Given the description of an element on the screen output the (x, y) to click on. 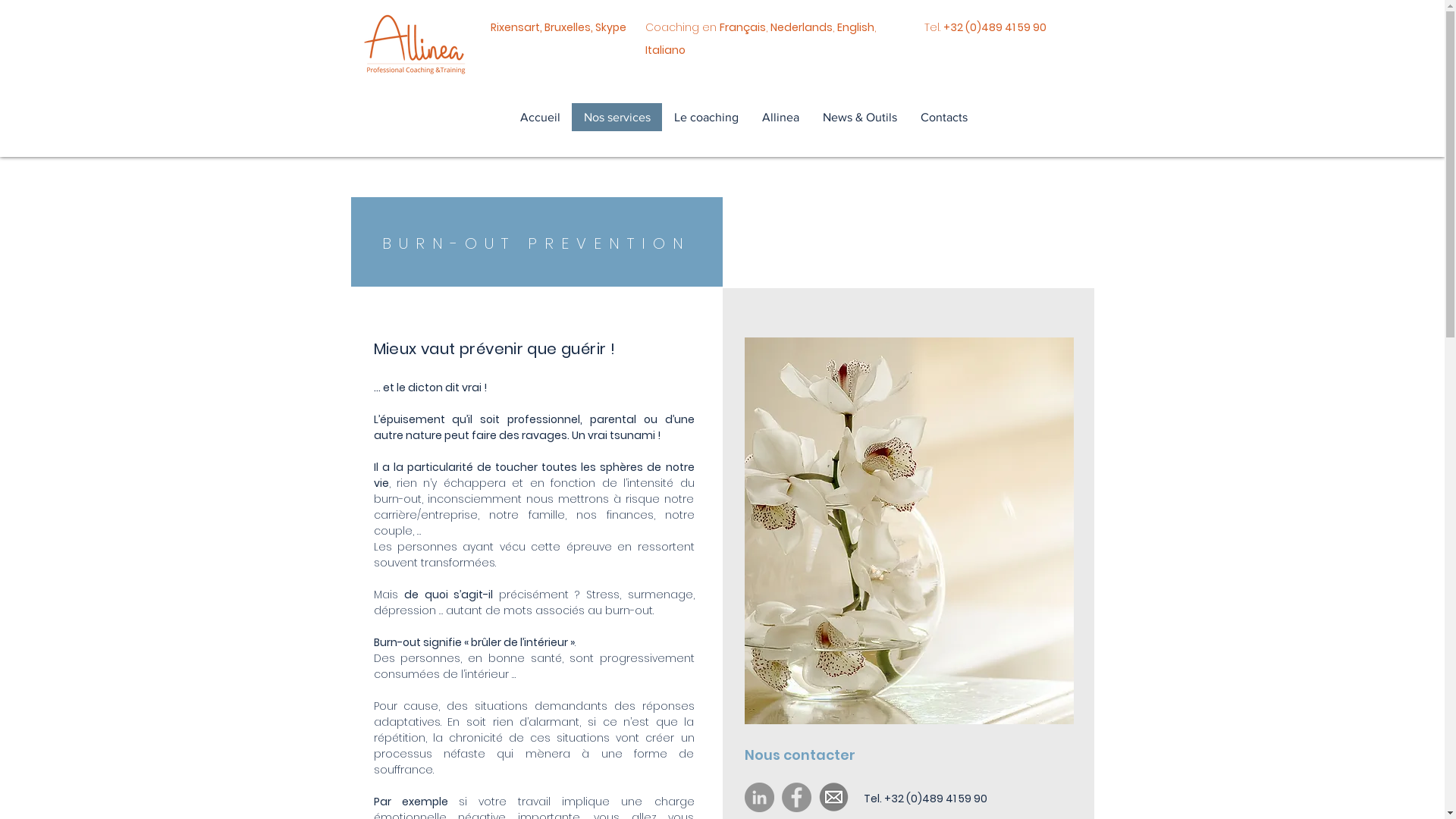
Nous contacter Element type: text (818, 755)
Allinea Element type: text (779, 117)
Contacts Element type: text (943, 117)
News & Outils Element type: text (858, 117)
Le coaching Element type: text (705, 117)
Nos services Element type: text (616, 117)
Accueil Element type: text (539, 117)
